Given the description of an element on the screen output the (x, y) to click on. 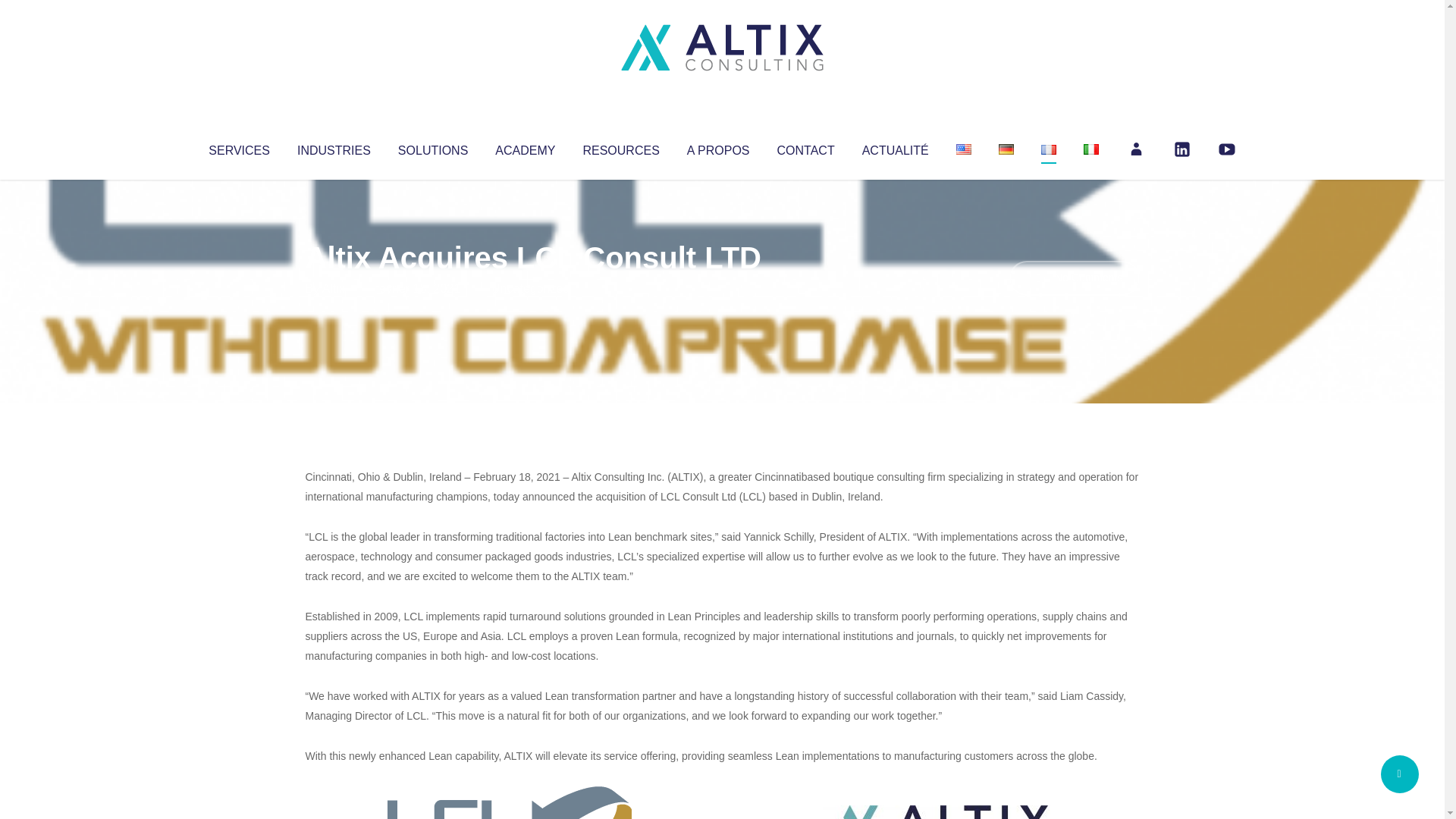
ACADEMY (524, 146)
Articles par Altix (333, 287)
Uncategorized (530, 287)
SERVICES (238, 146)
A PROPOS (718, 146)
No Comments (1073, 278)
RESOURCES (620, 146)
SOLUTIONS (432, 146)
Altix (333, 287)
INDUSTRIES (334, 146)
